Given the description of an element on the screen output the (x, y) to click on. 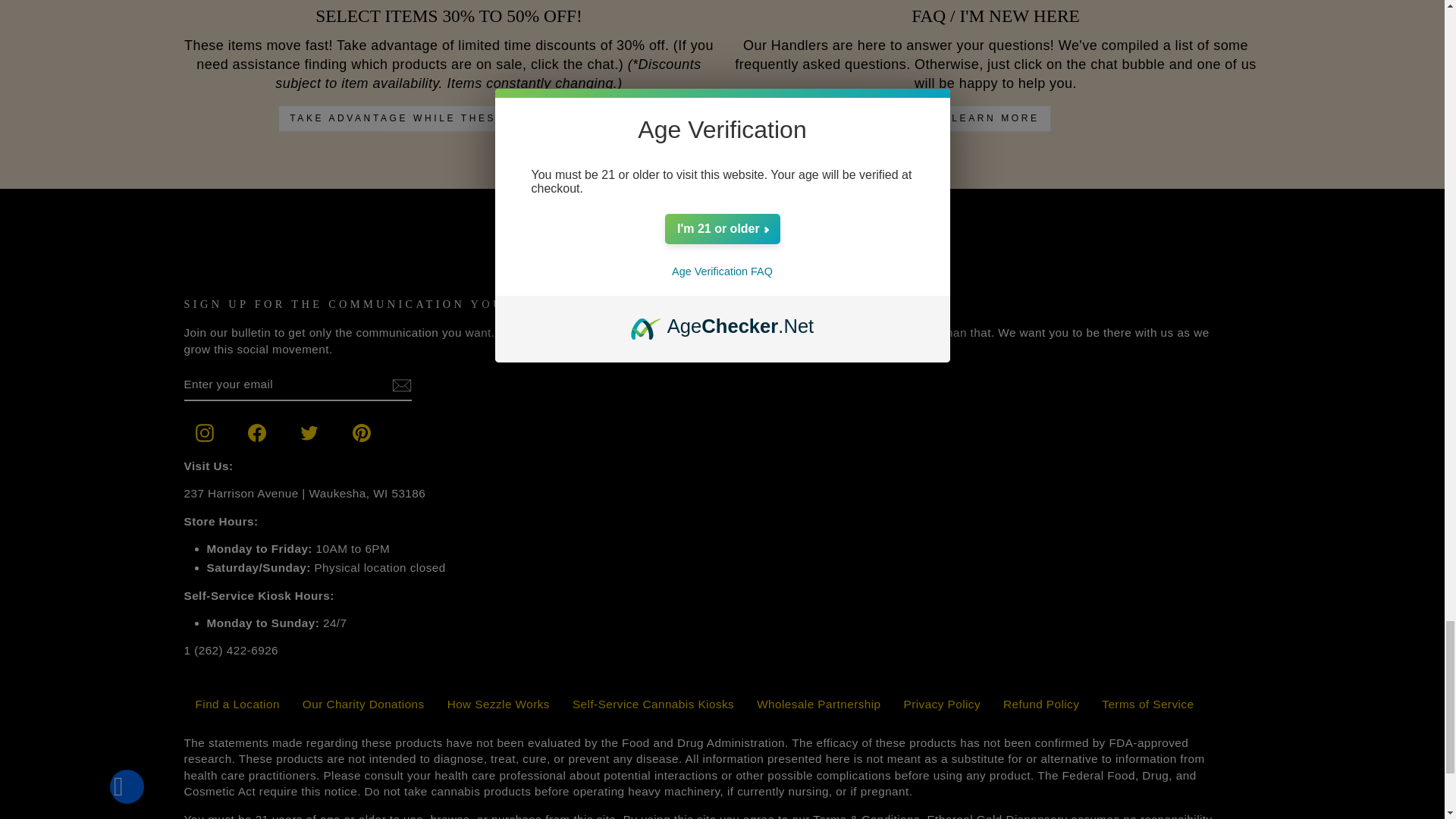
Ethereal Gold Dispensary on Facebook (256, 433)
Ethereal Gold Dispensary on Pinterest (360, 433)
Ethereal Gold Dispensary on Twitter (308, 433)
icon-email (400, 384)
twitter (308, 433)
instagram (204, 433)
Ethereal Gold Dispensary on Instagram (203, 433)
